Given the description of an element on the screen output the (x, y) to click on. 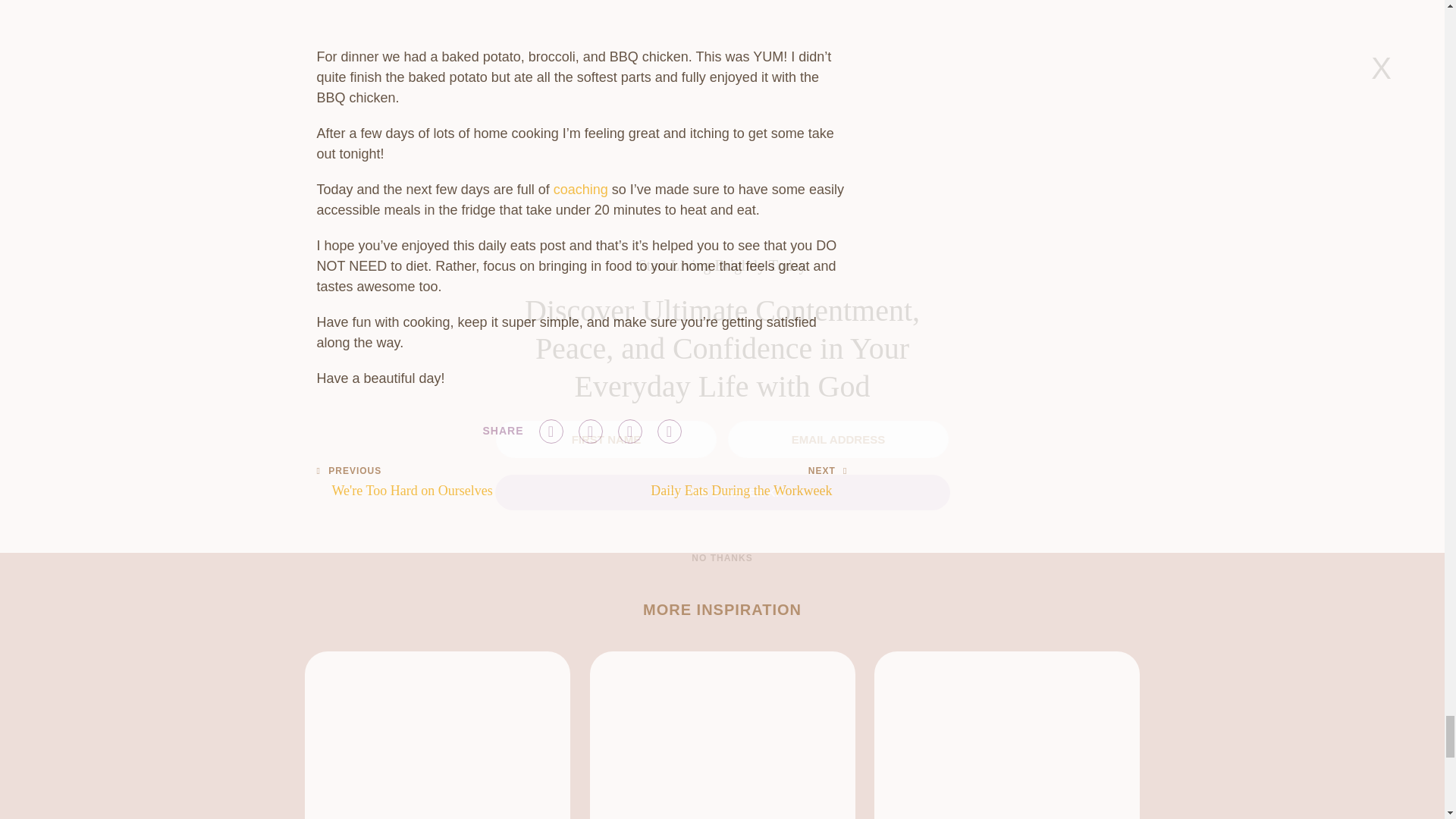
Share on Facebook (550, 431)
Share via E-mail (668, 431)
Share on Twitter (590, 431)
Share on Pinterest (629, 431)
